Given the description of an element on the screen output the (x, y) to click on. 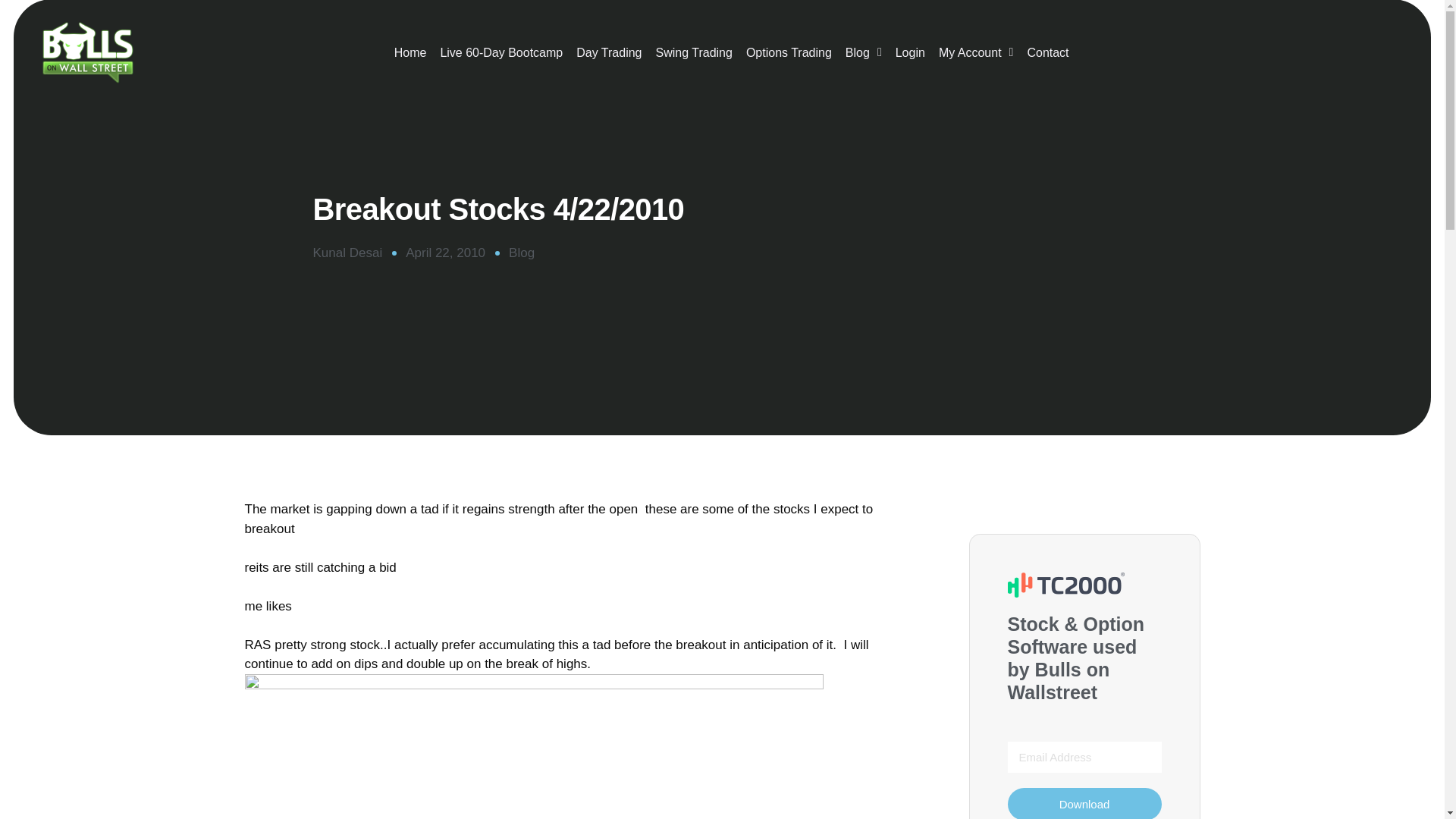
Live 60-Day Bootcamp (500, 52)
My Account (975, 52)
Day Trading (608, 52)
Login (909, 52)
Options Trading (788, 52)
Swing Trading (694, 52)
Blog (863, 52)
Home (410, 52)
Contact (1047, 52)
